Given the description of an element on the screen output the (x, y) to click on. 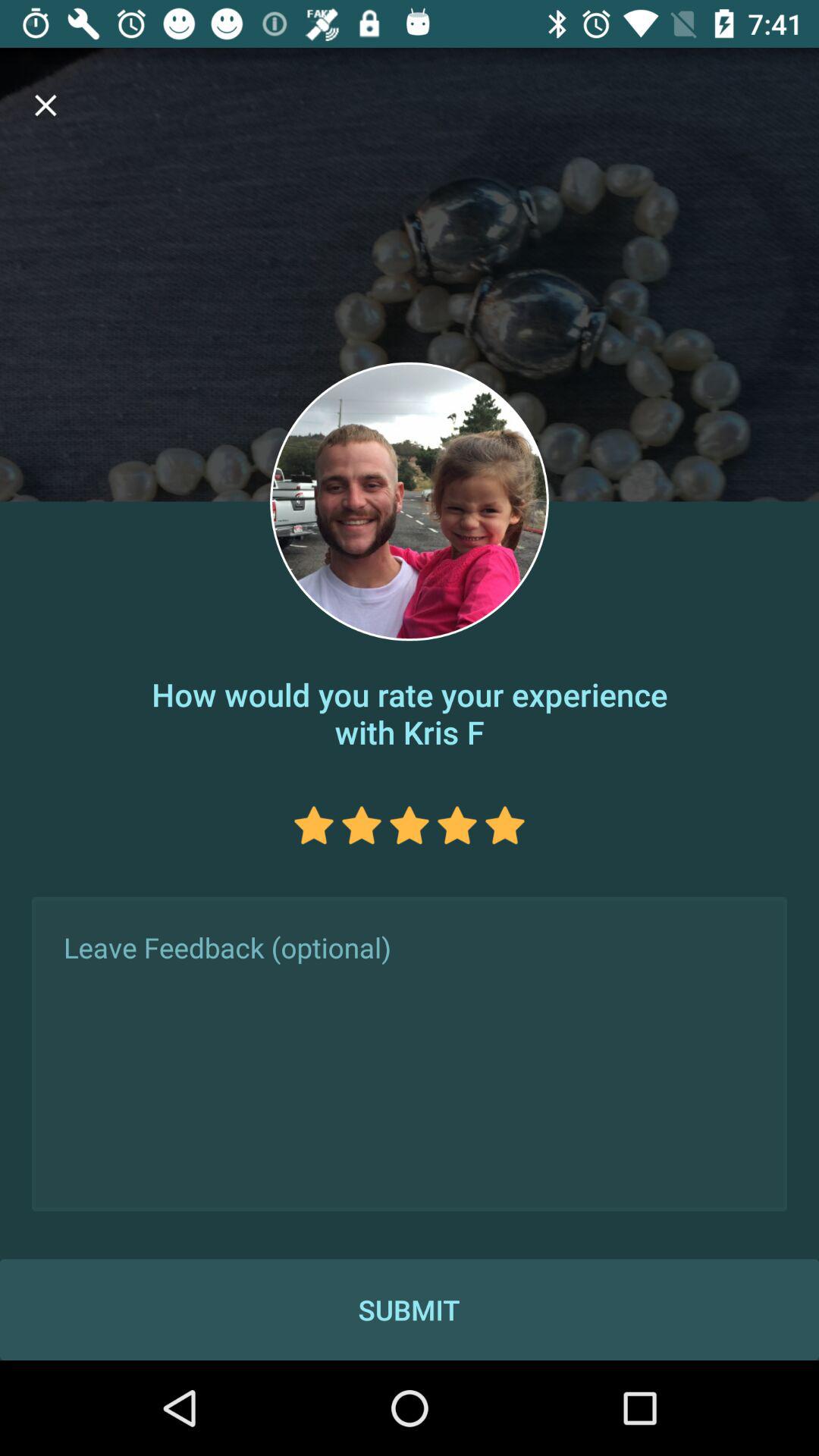
rate the experience (457, 825)
